Given the description of an element on the screen output the (x, y) to click on. 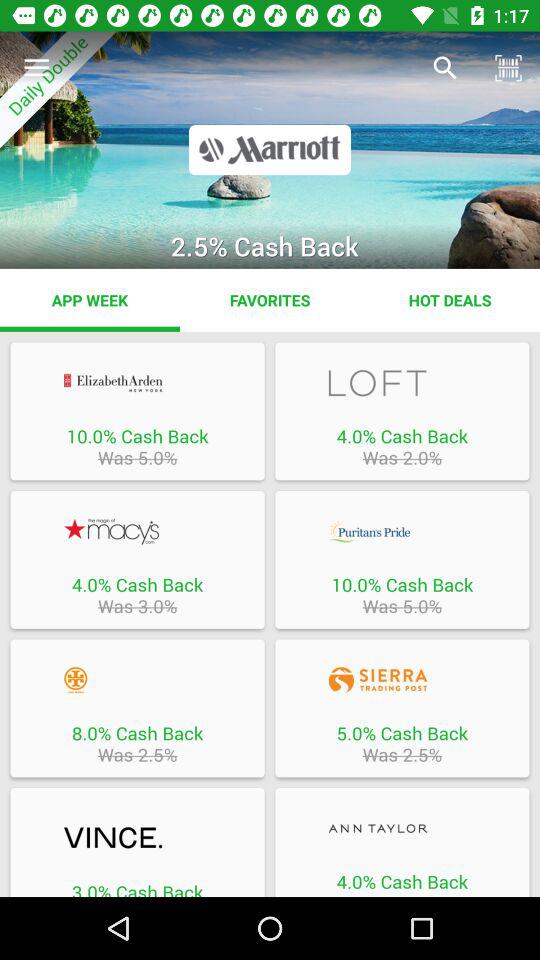
view offer details (137, 838)
